Given the description of an element on the screen output the (x, y) to click on. 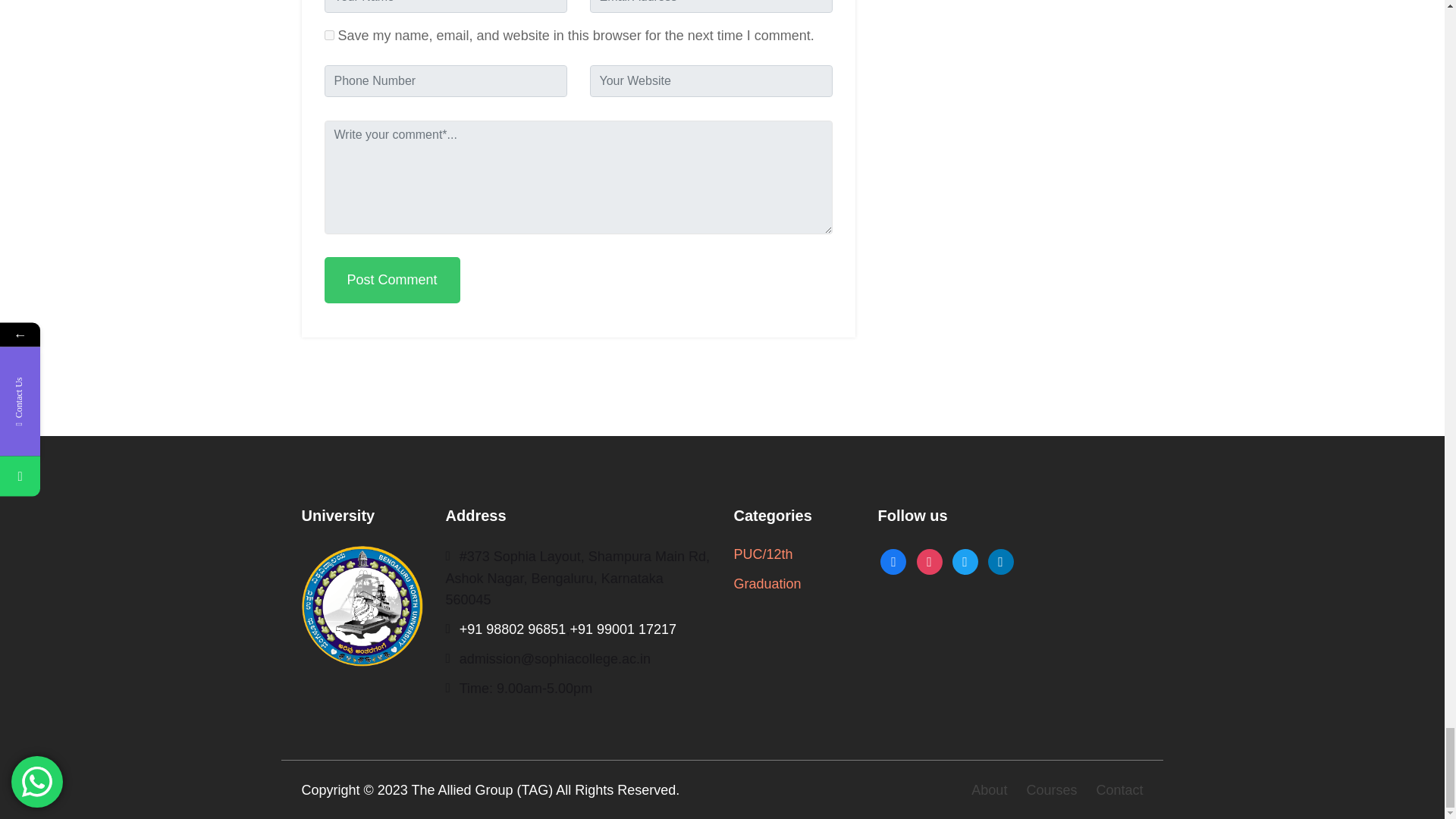
yes (329, 35)
